Given the description of an element on the screen output the (x, y) to click on. 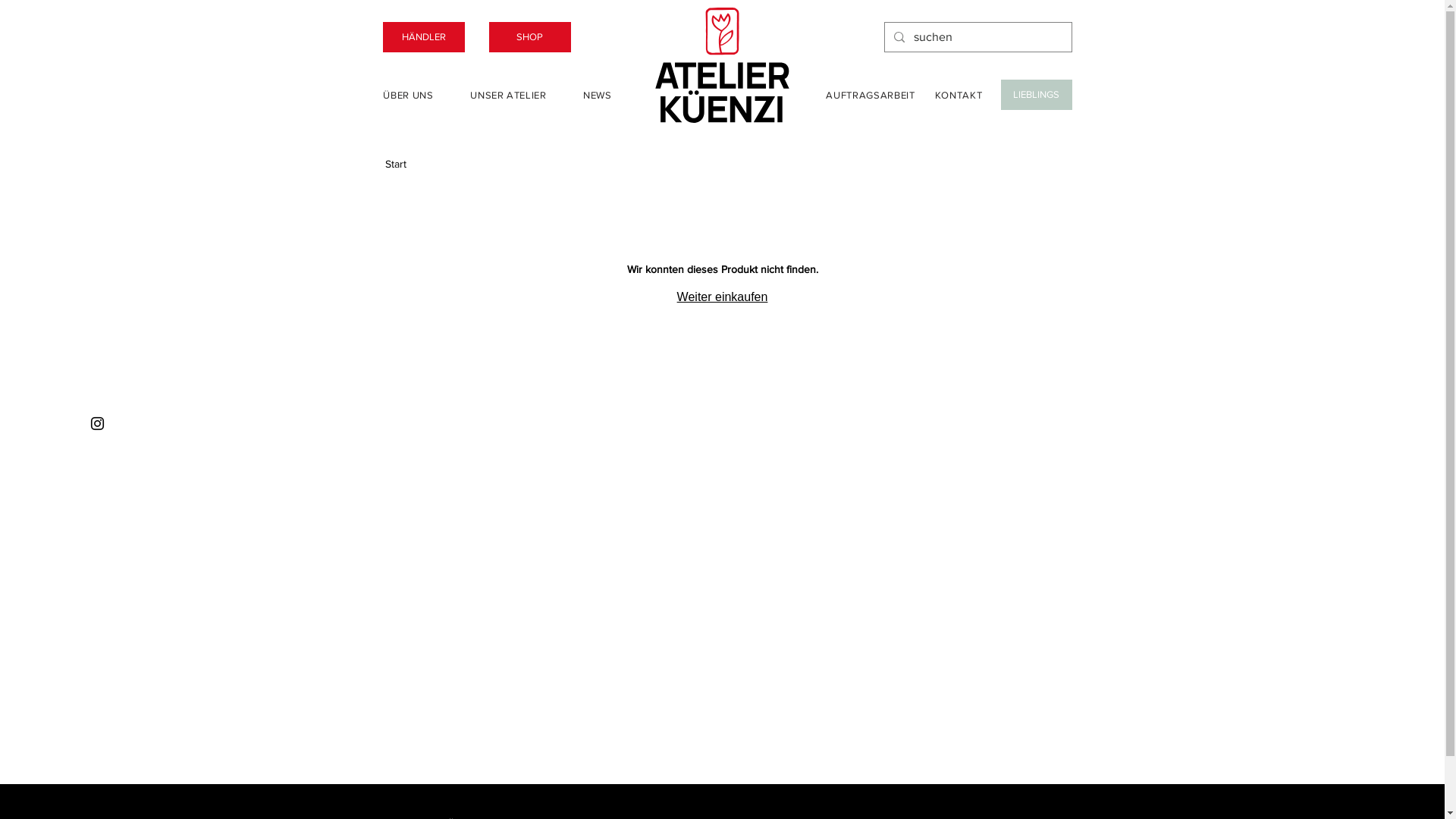
AUFTRAGSARBEIT Element type: text (870, 94)
SHOP Element type: text (529, 36)
Start Element type: text (395, 163)
LIEBLINGS Element type: text (1036, 94)
UNSER ATELIER Element type: text (508, 94)
Weiter einkaufen Element type: text (722, 296)
KONTAKT Element type: text (958, 94)
NEWS Element type: text (596, 94)
